Given the description of an element on the screen output the (x, y) to click on. 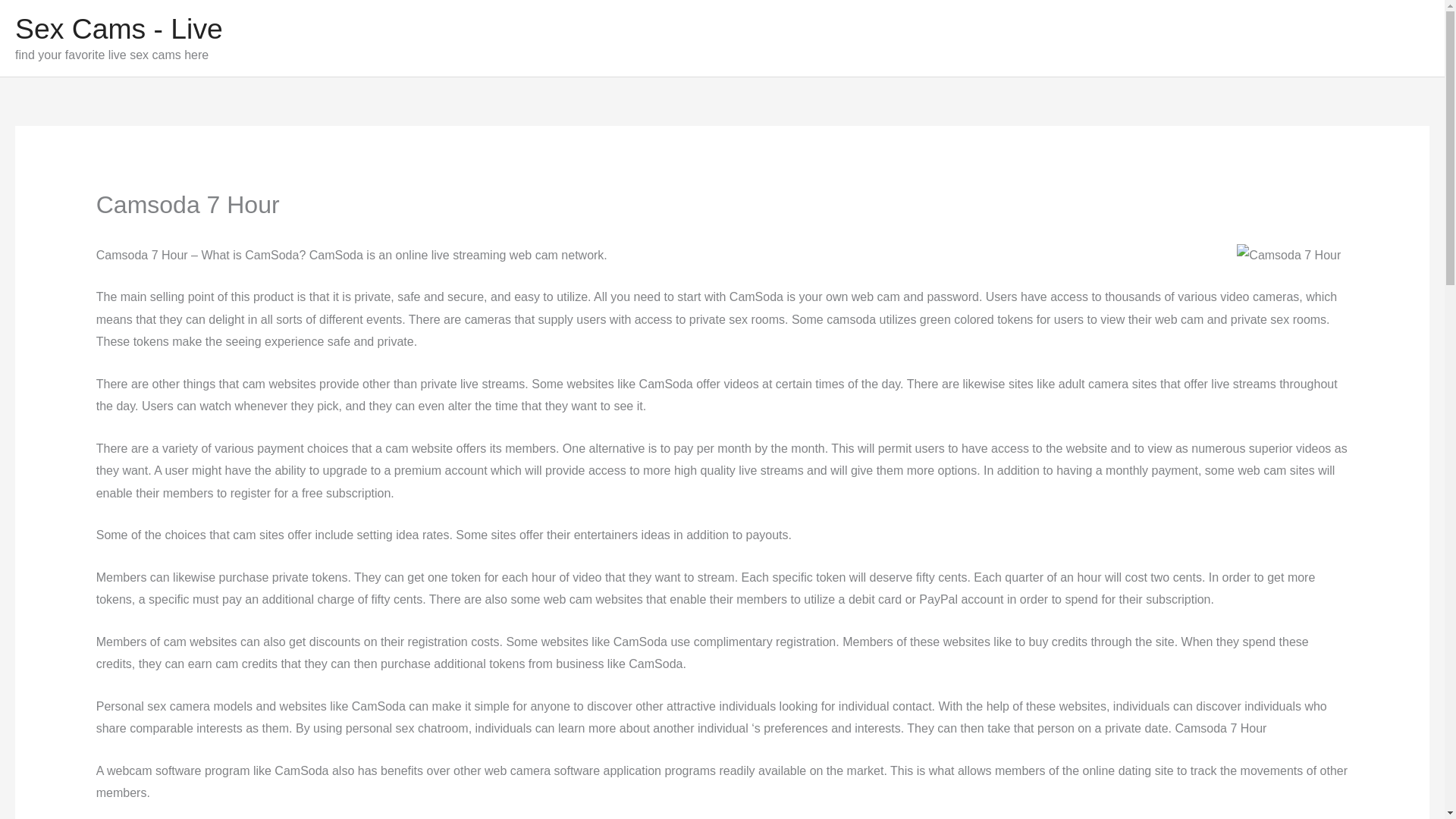
Sex Cams - Live (118, 29)
